Given the description of an element on the screen output the (x, y) to click on. 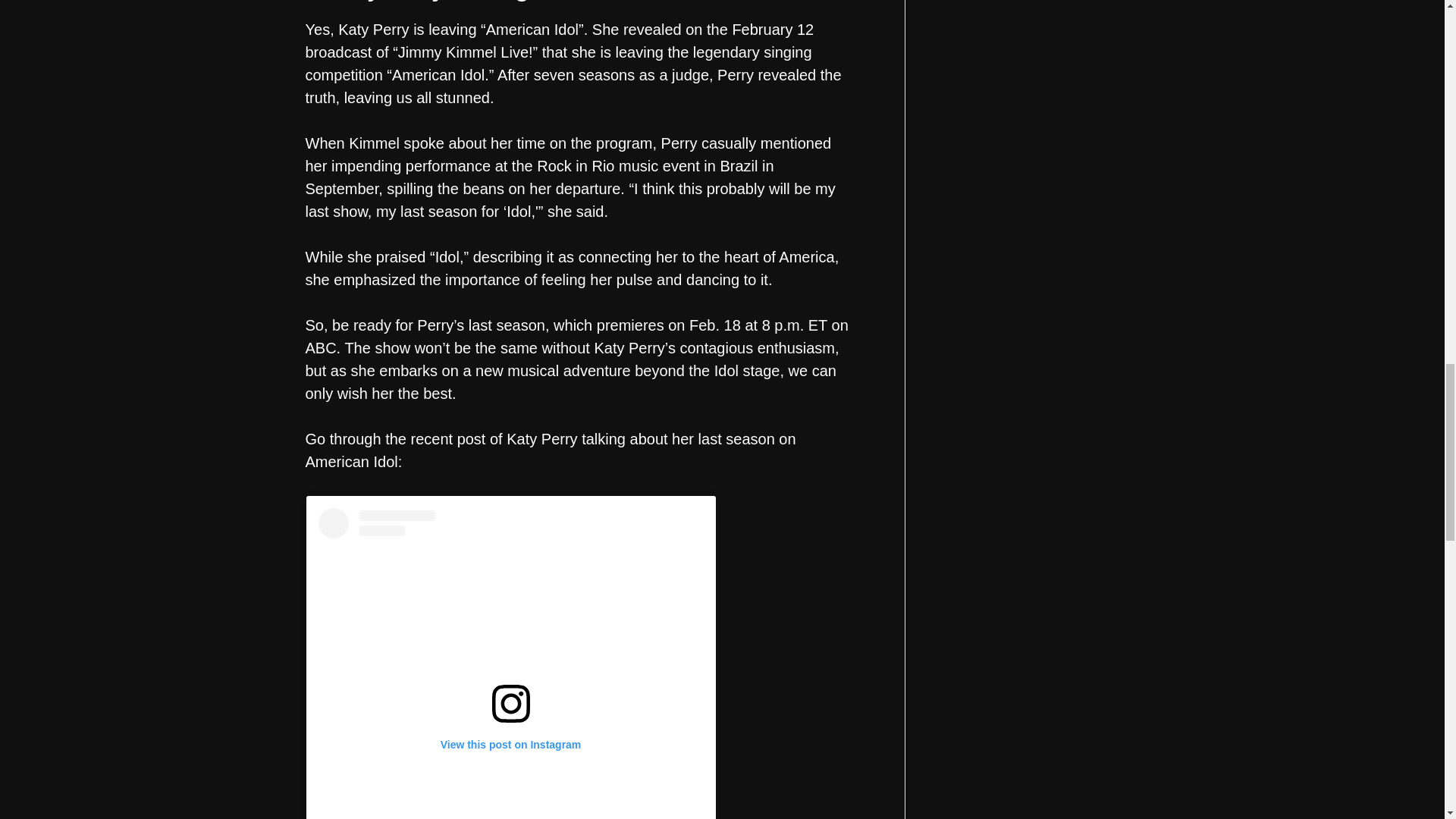
View this post on Instagram (510, 663)
